Given the description of an element on the screen output the (x, y) to click on. 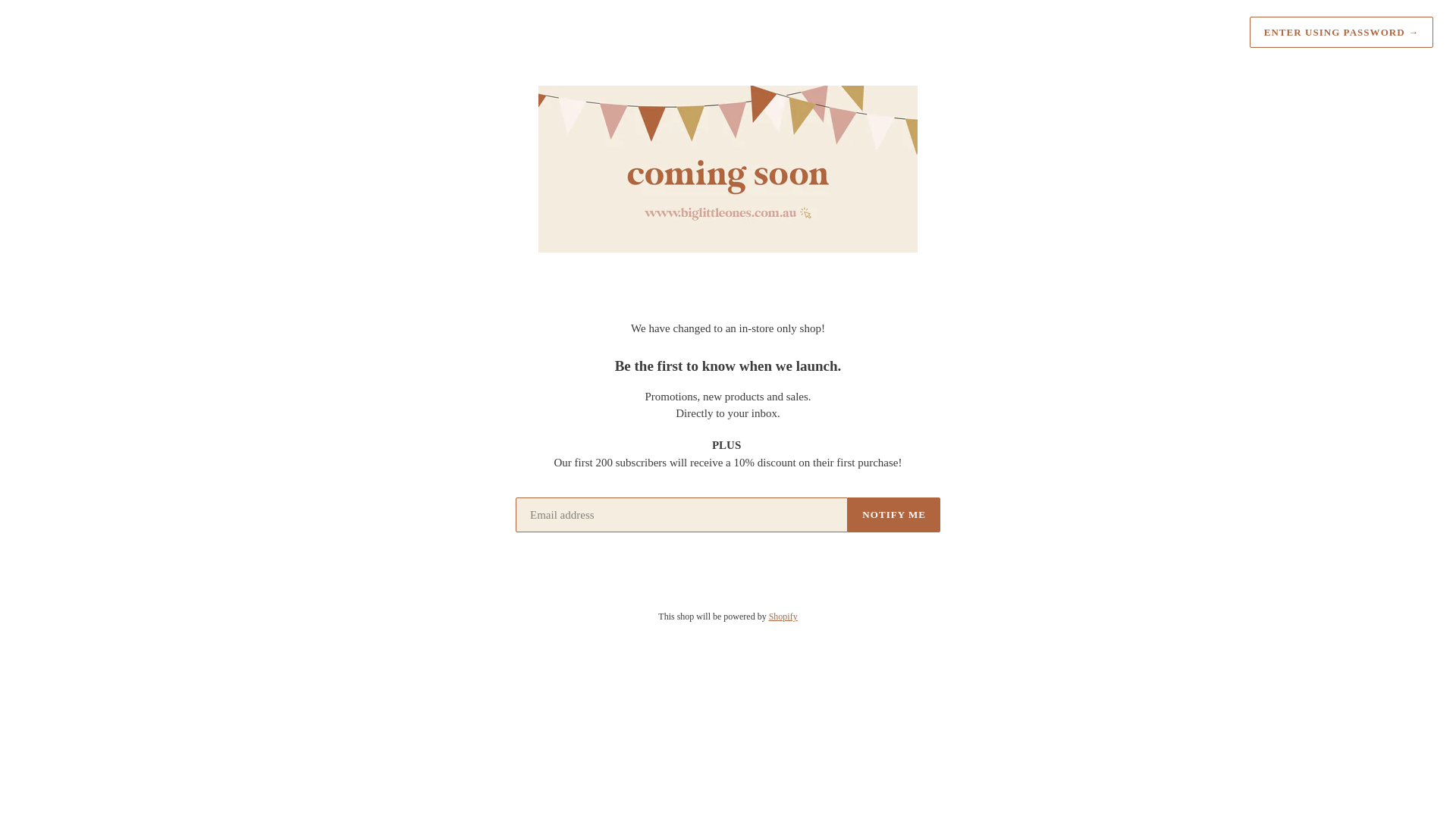
NOTIFY ME (893, 514)
Shopify (782, 615)
Create your own online store with Shopify (782, 615)
